Given the description of an element on the screen output the (x, y) to click on. 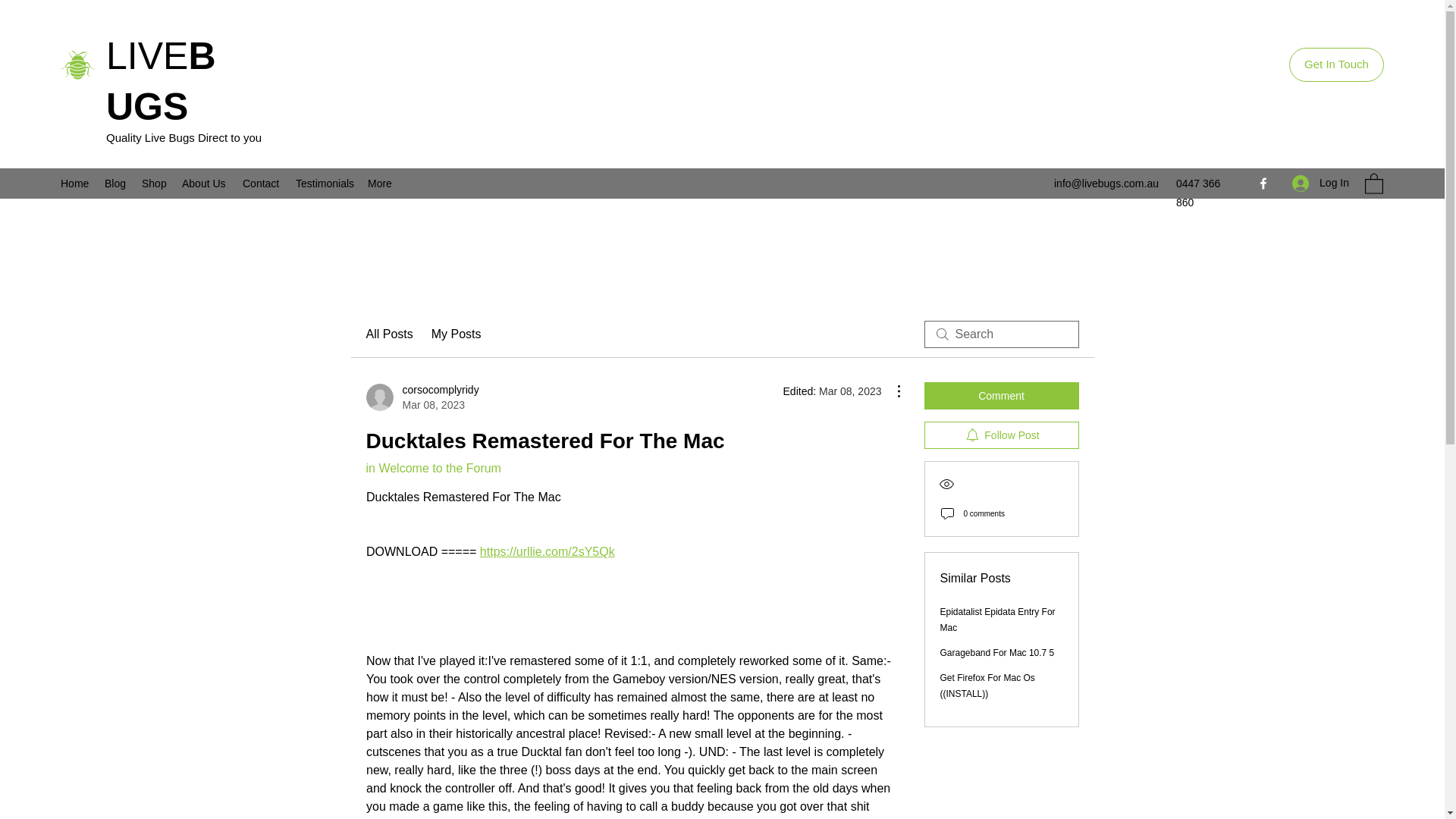
in Welcome to the Forum (432, 468)
Garageband For Mac 10.7 5 (997, 652)
Epidatalist Epidata Entry For Mac (997, 619)
All Posts (388, 334)
Blog (115, 182)
Testimonials (323, 182)
Comment (1000, 395)
LIVEBUGS (160, 81)
Log In (1320, 182)
Follow Post (1000, 434)
